Given the description of an element on the screen output the (x, y) to click on. 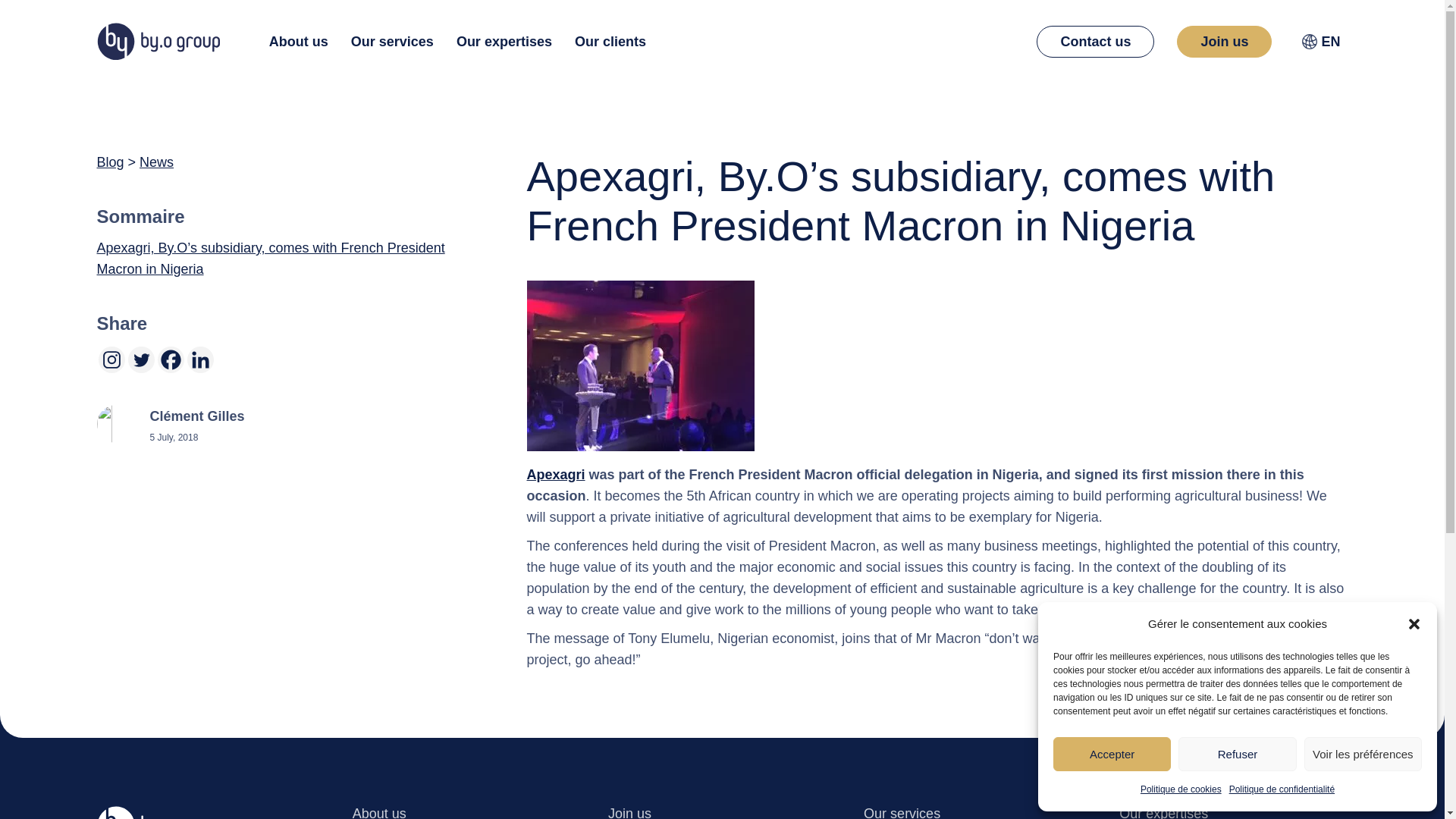
About us (299, 41)
Facebook (170, 359)
Our services (391, 41)
Join us (1223, 41)
EN (1321, 41)
Accepter (1111, 754)
By.O Group (158, 41)
Linkedin (199, 359)
Refuser (1236, 754)
Politique de cookies (1180, 789)
